Given the description of an element on the screen output the (x, y) to click on. 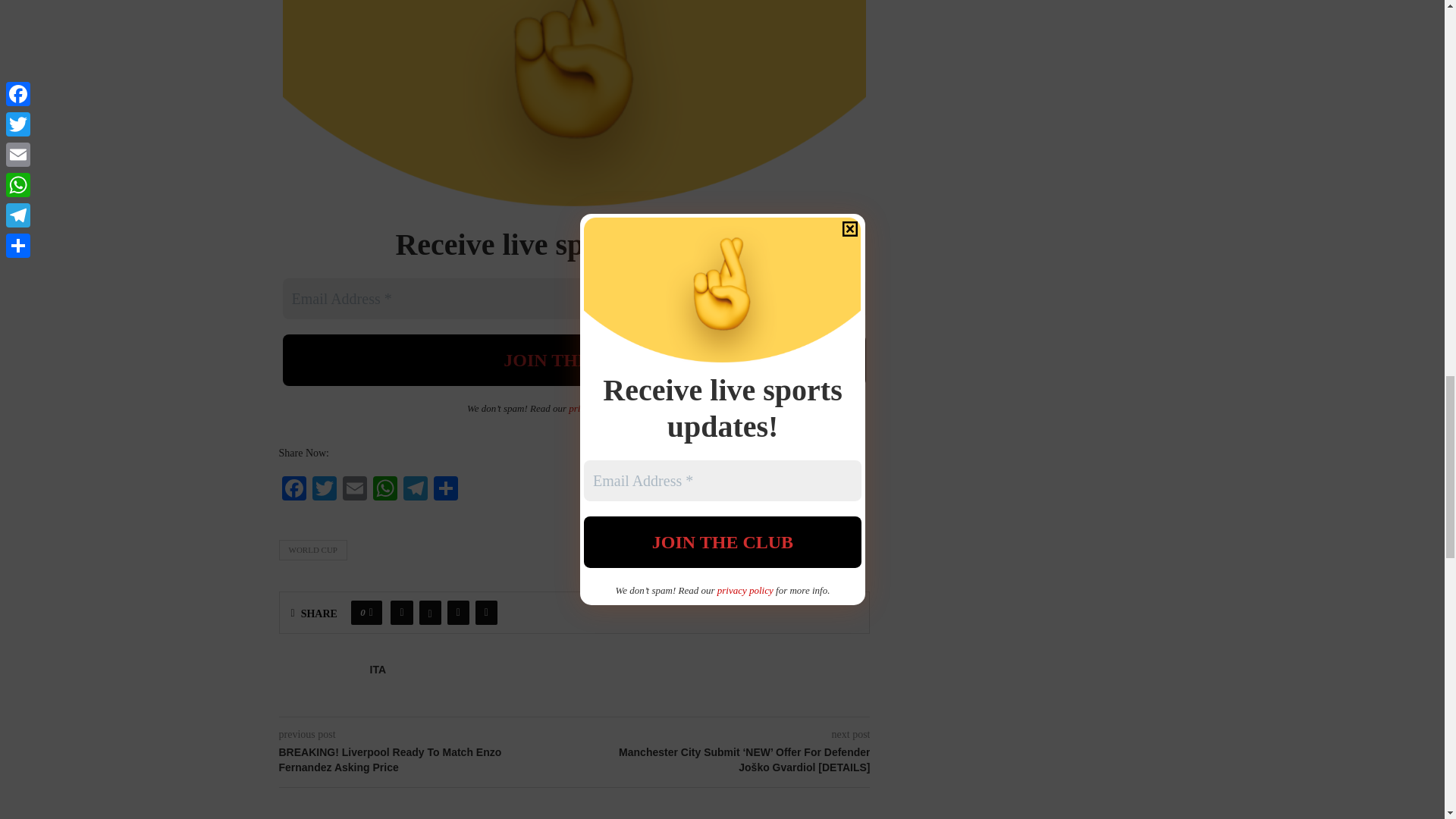
Facebook (293, 489)
Email (354, 489)
Twitter (323, 489)
WhatsApp (384, 489)
Telegram (415, 489)
Like (370, 612)
JOIN THE CLUB (574, 359)
Email Address (574, 298)
